Given the description of an element on the screen output the (x, y) to click on. 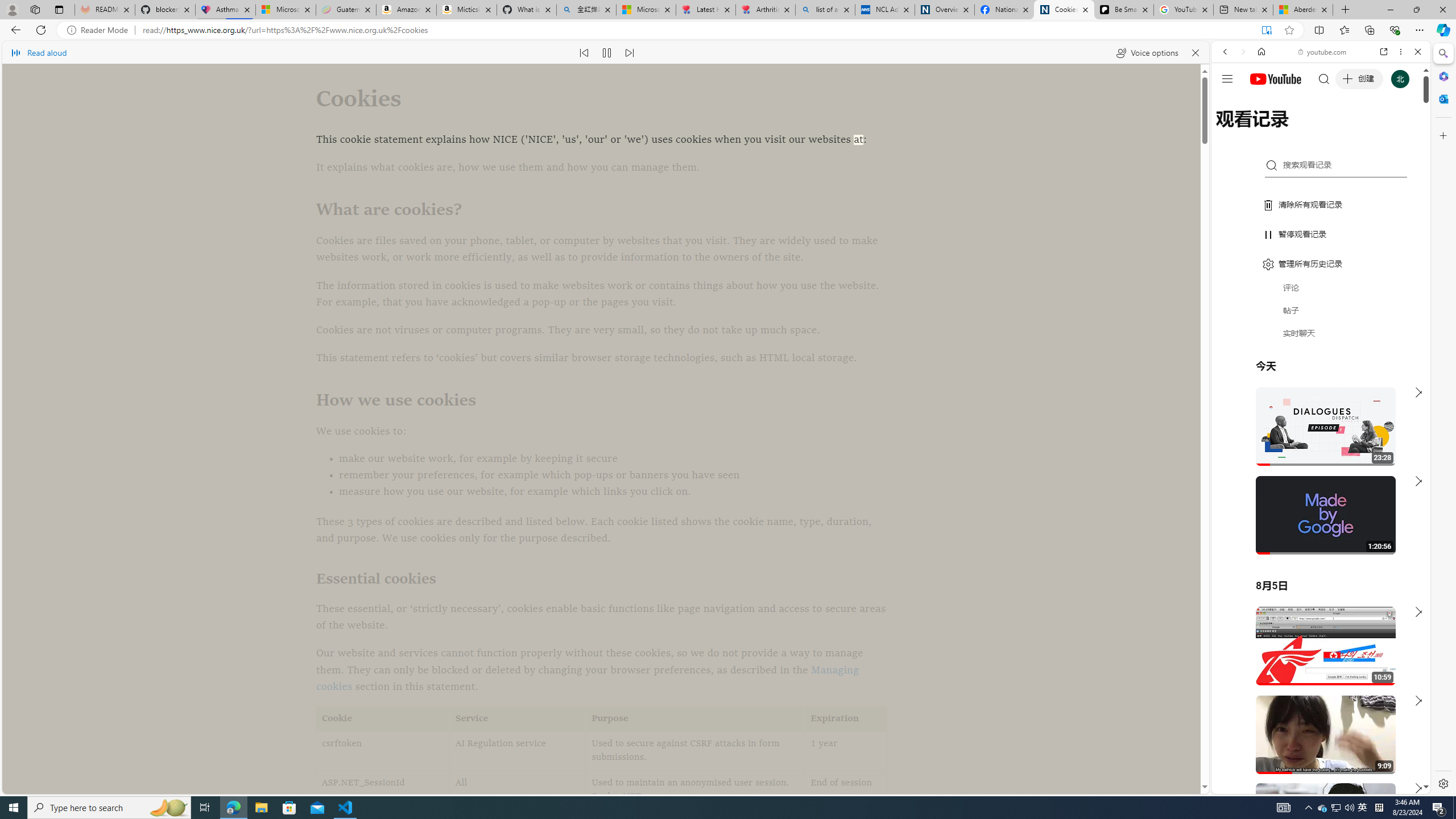
WEB   (1230, 130)
Actions for this site (1371, 661)
Purpose (695, 718)
youtube.com (1322, 51)
Exit Immersive Reader (F9) (1266, 29)
Google (1320, 281)
SEARCH TOOLS (1350, 130)
Trailer #2 [HD] (1320, 337)
